Given the description of an element on the screen output the (x, y) to click on. 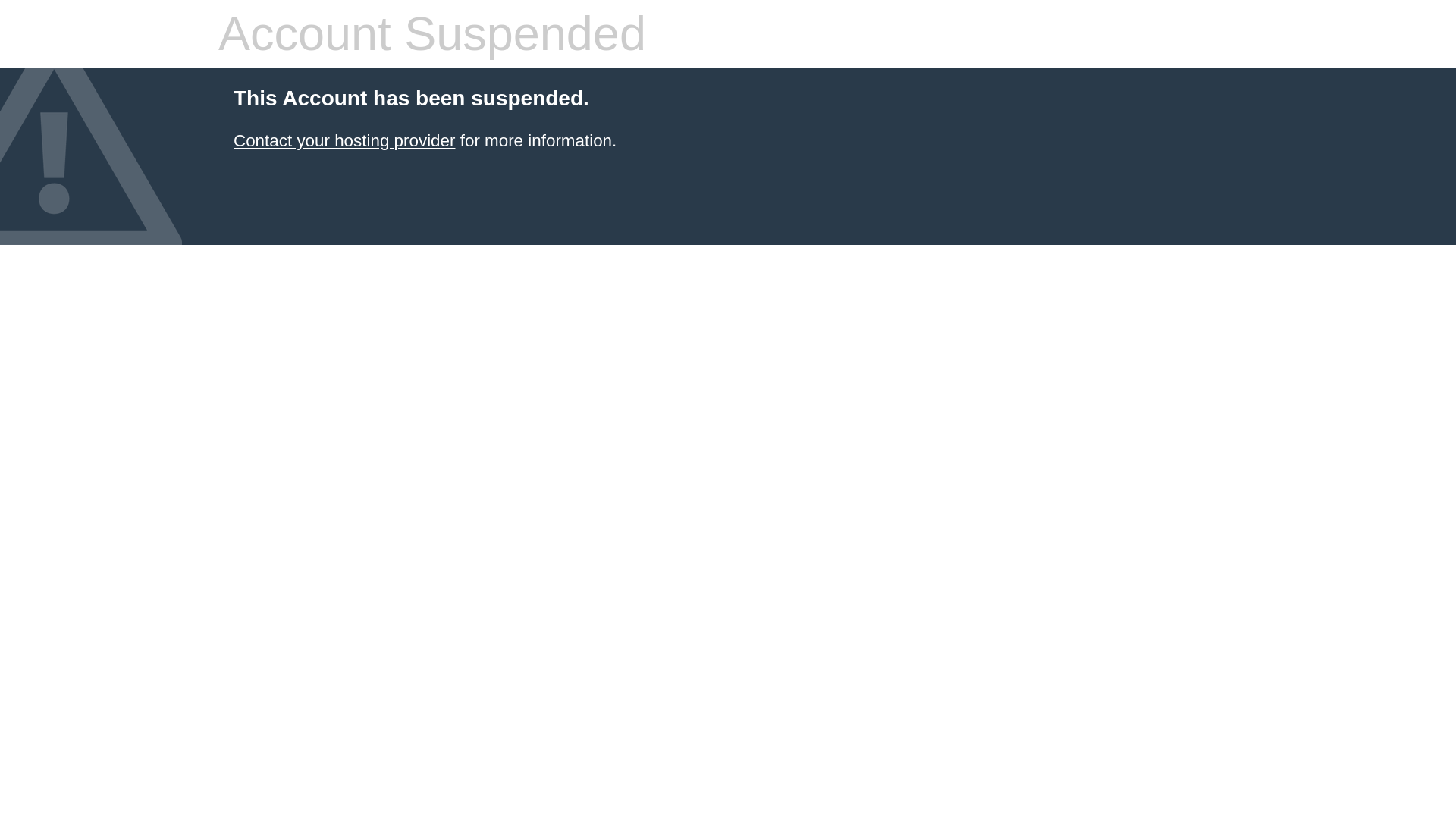
Contact your hosting provider (343, 140)
